Given the description of an element on the screen output the (x, y) to click on. 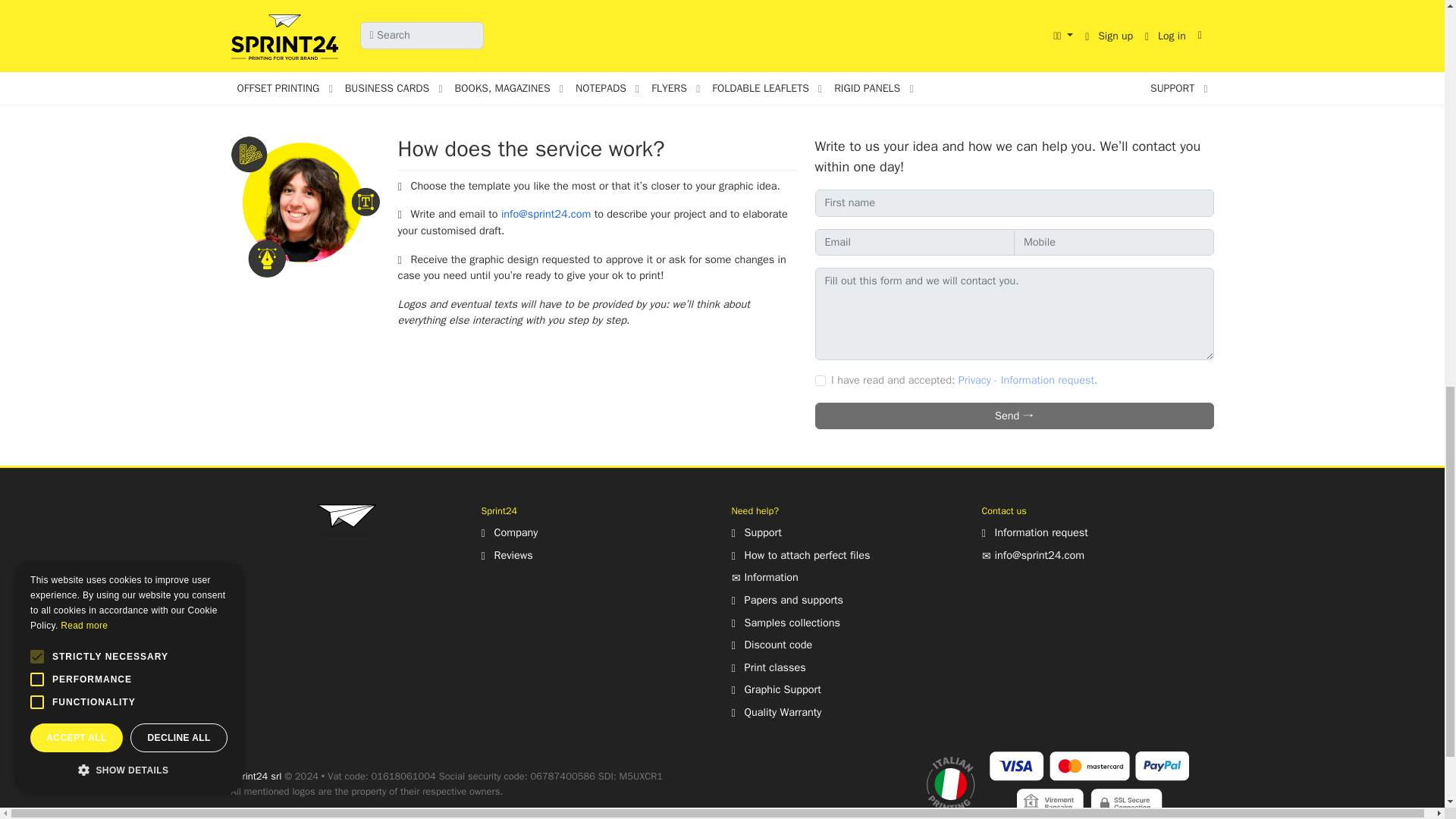
Papers and supports (786, 599)
Discount Code: Printing Custom Online UK (771, 644)
Print classes (767, 667)
How to attach perfect files (799, 554)
Graphic Support (775, 689)
Support (755, 531)
Information (763, 576)
Quality Warranty (775, 712)
Samples collections (785, 622)
